Given the description of an element on the screen output the (x, y) to click on. 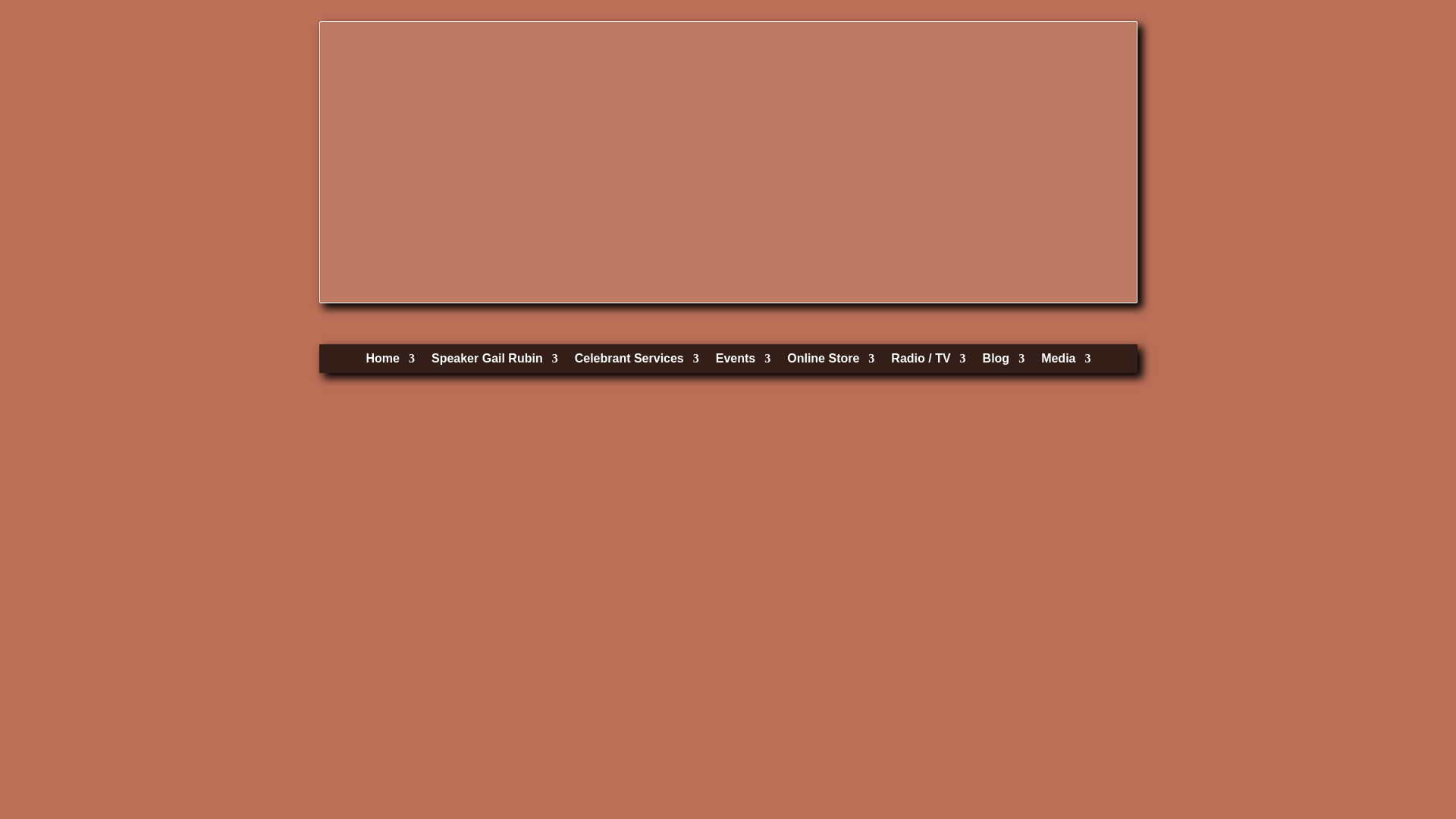
Celebrant Services (636, 361)
Blog (1003, 361)
Funeral Services (636, 361)
Speaker Gail Rubin (493, 361)
Online Store (831, 361)
Home (390, 361)
Media (1065, 361)
Events (743, 361)
